Given the description of an element on the screen output the (x, y) to click on. 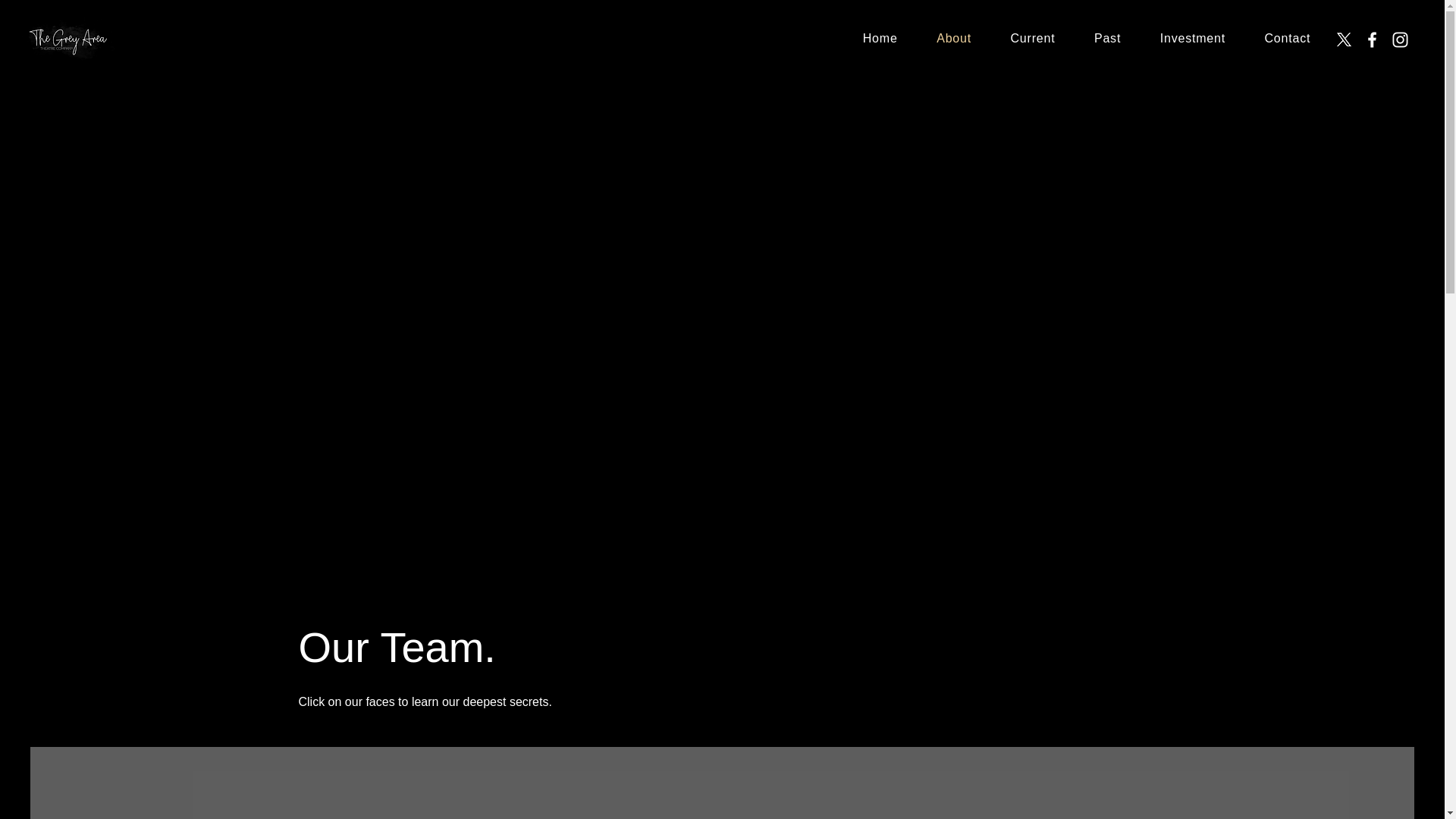
Current (1032, 38)
About (953, 38)
Past (1107, 38)
Contact (1286, 38)
Investment (1191, 38)
Home (879, 38)
